Given the description of an element on the screen output the (x, y) to click on. 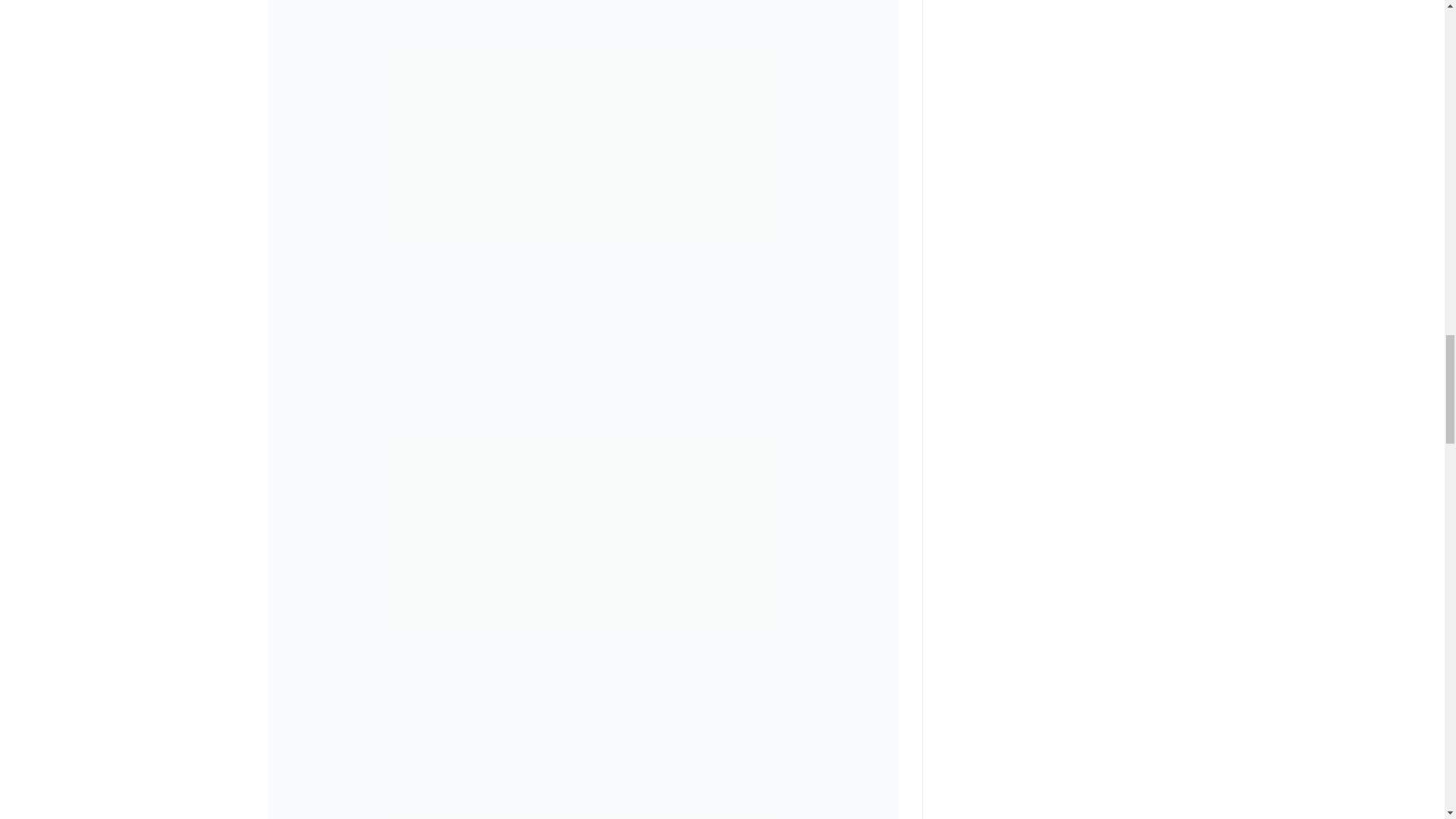
Artist in Paris 5 (582, 758)
